Given the description of an element on the screen output the (x, y) to click on. 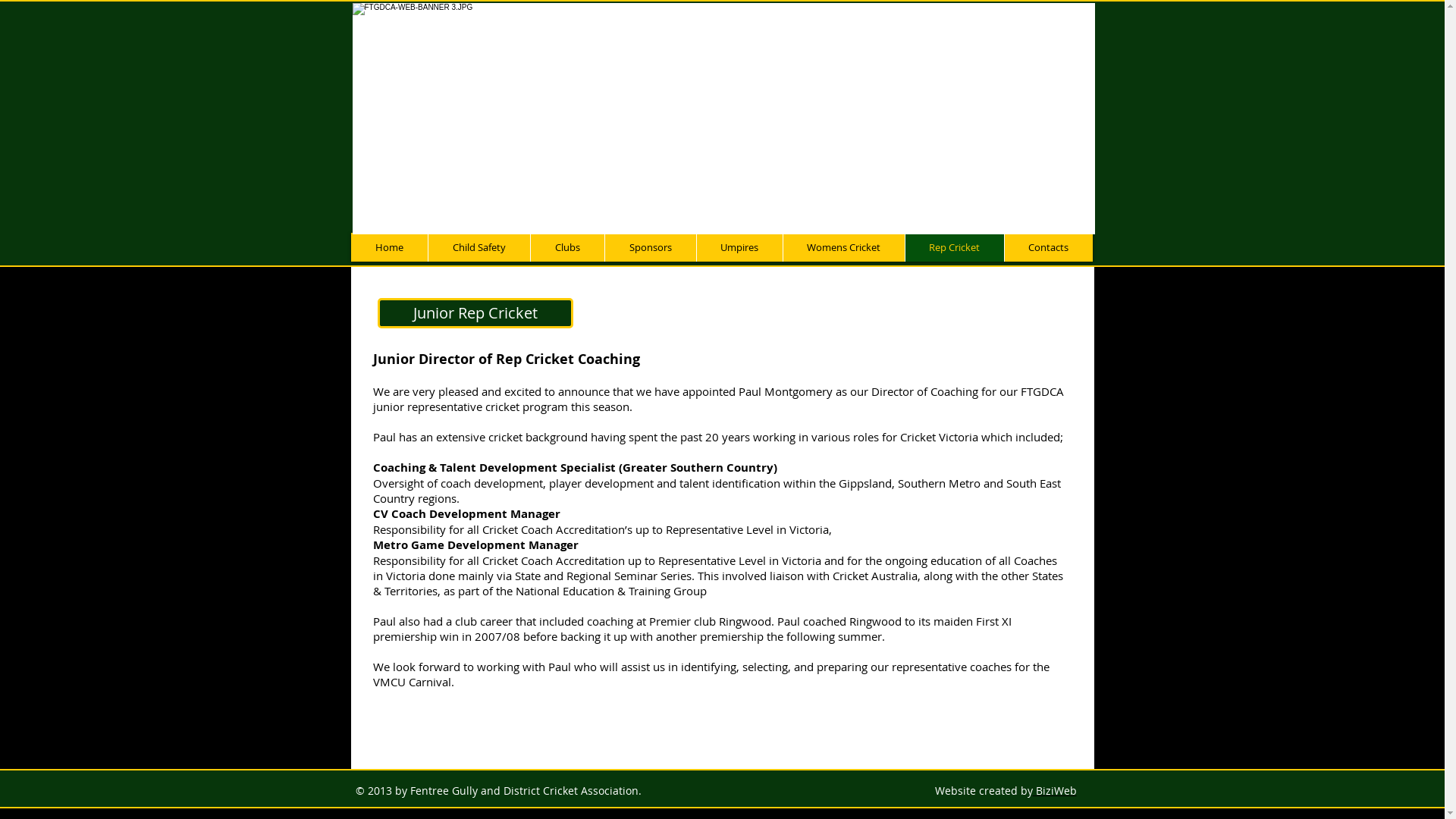
Child Safety Element type: text (478, 246)
Clubs Element type: text (566, 246)
Sponsors Element type: text (649, 246)
Umpires Element type: text (739, 246)
Womens Cricket Element type: text (843, 246)
Contacts Element type: text (1048, 246)
Home Element type: text (388, 246)
BiziWeb Element type: text (1054, 790)
Rep Cricket Element type: text (953, 246)
Junior Rep Cricket Element type: text (475, 313)
